Given the description of an element on the screen output the (x, y) to click on. 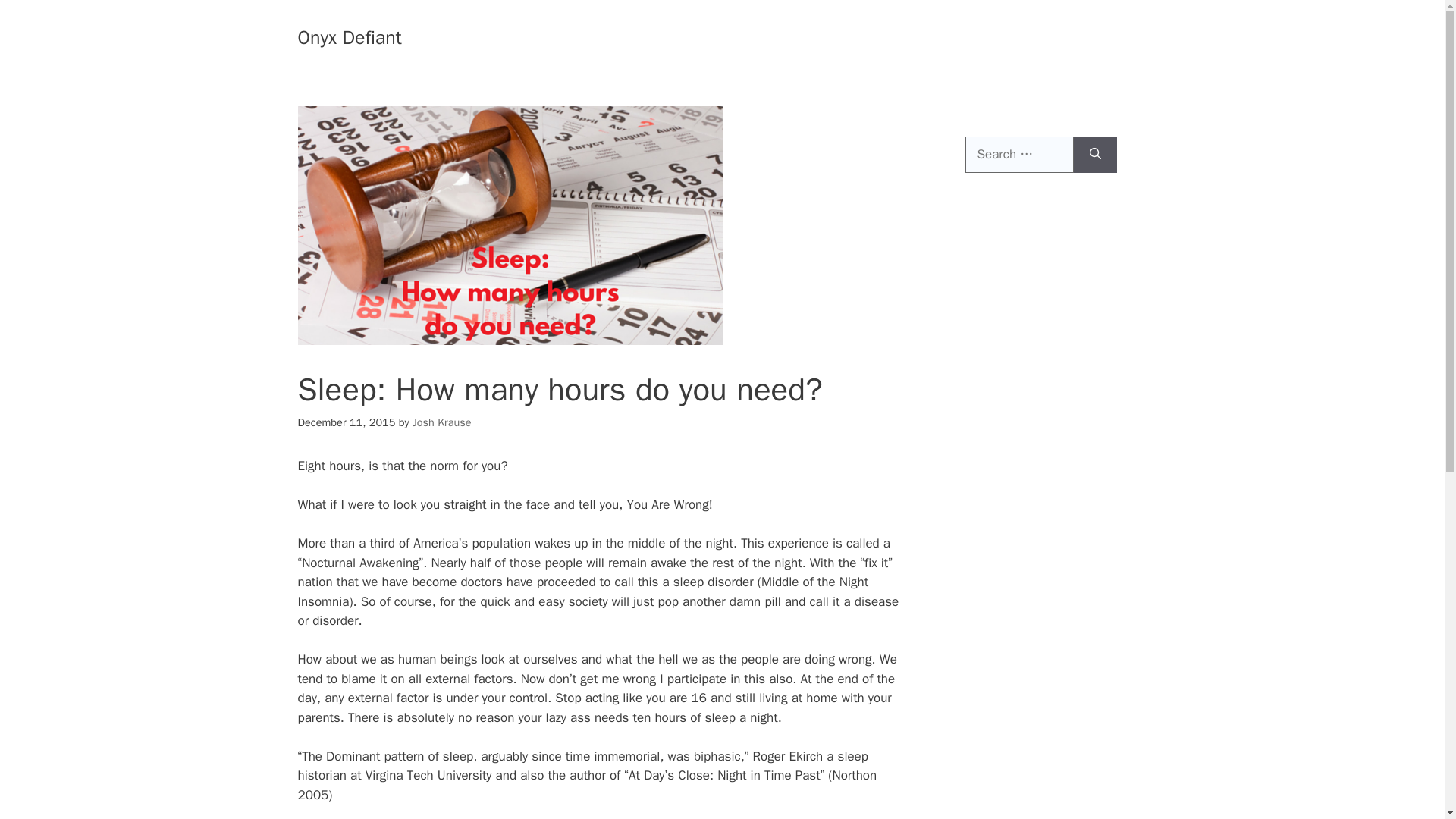
Josh Krause (441, 422)
Formalities (1062, 37)
Niche Site (979, 37)
Onyx Defiant (349, 37)
Home (791, 37)
Search for: (1018, 154)
Merch by Amazon (880, 37)
View all posts by Josh Krause (441, 422)
